Given the description of an element on the screen output the (x, y) to click on. 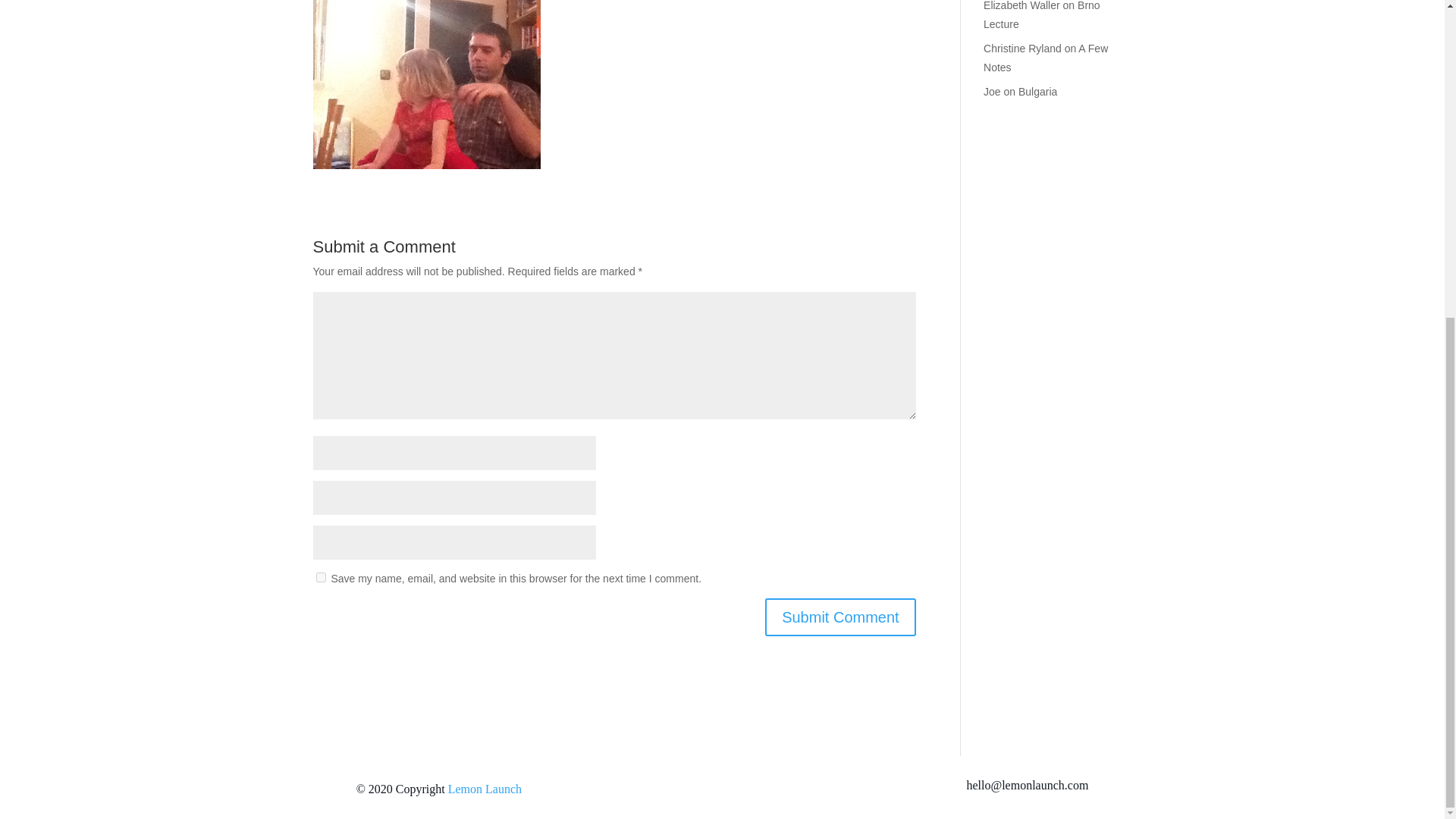
Submit Comment (840, 617)
Lemon Launch (484, 788)
Brno Lecture (1042, 15)
A Few Notes (1046, 57)
yes (319, 577)
Bulgaria (1037, 91)
Submit Comment (840, 617)
